Given the description of an element on the screen output the (x, y) to click on. 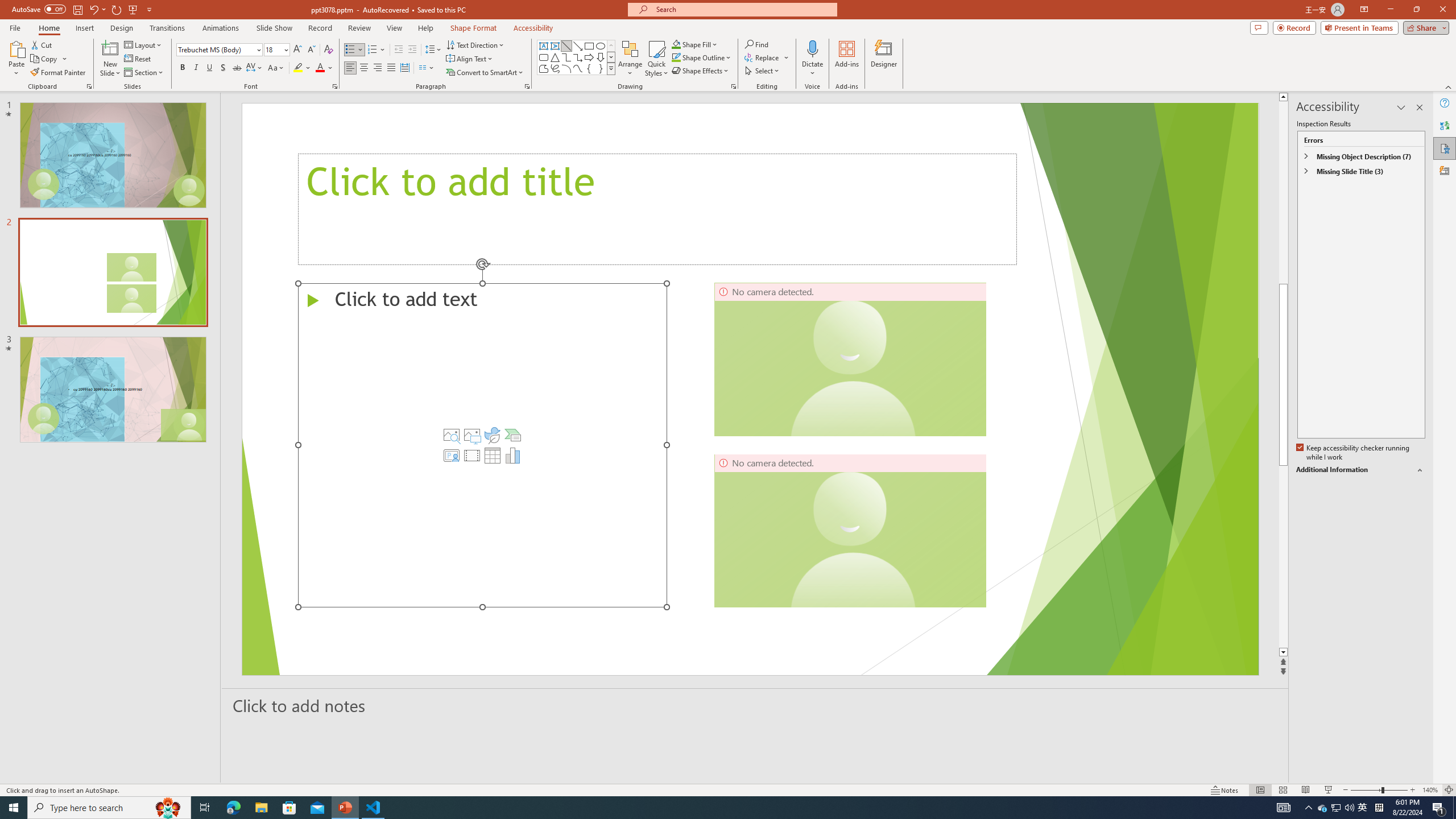
Shadow (223, 67)
Increase Indent (412, 49)
Increase Font Size (297, 49)
Slide Notes (755, 705)
Pictures (471, 434)
Distributed (404, 67)
Camera 5, No camera detected. (850, 359)
